Given the description of an element on the screen output the (x, y) to click on. 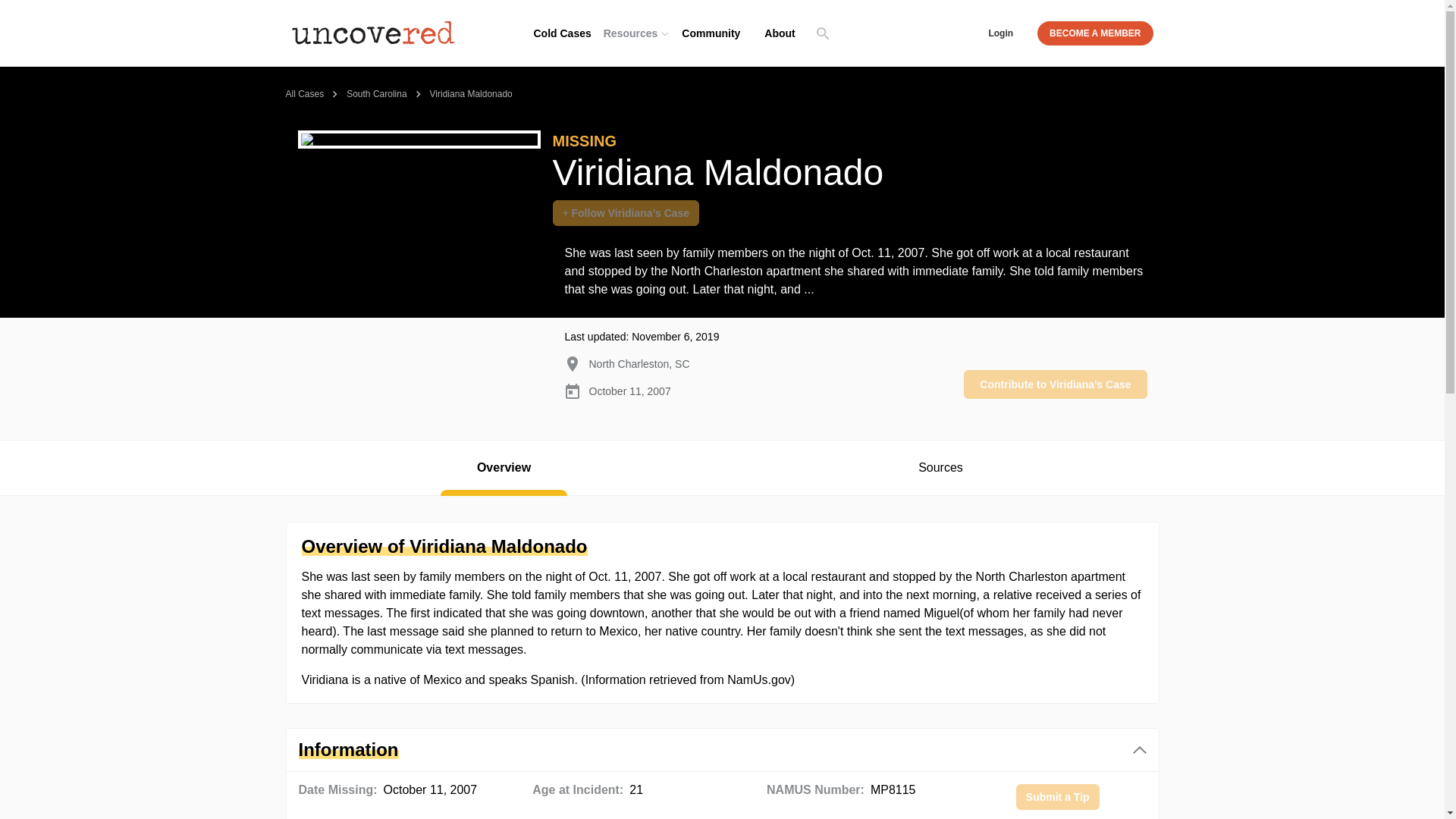
Cold Cases (562, 33)
About (779, 33)
All Cases (304, 93)
Resources (636, 33)
Community (710, 33)
South Carolina (376, 93)
Sources (940, 467)
Overview (503, 467)
Viridiana Maldonado (470, 93)
BECOME A MEMBER (1094, 33)
